Given the description of an element on the screen output the (x, y) to click on. 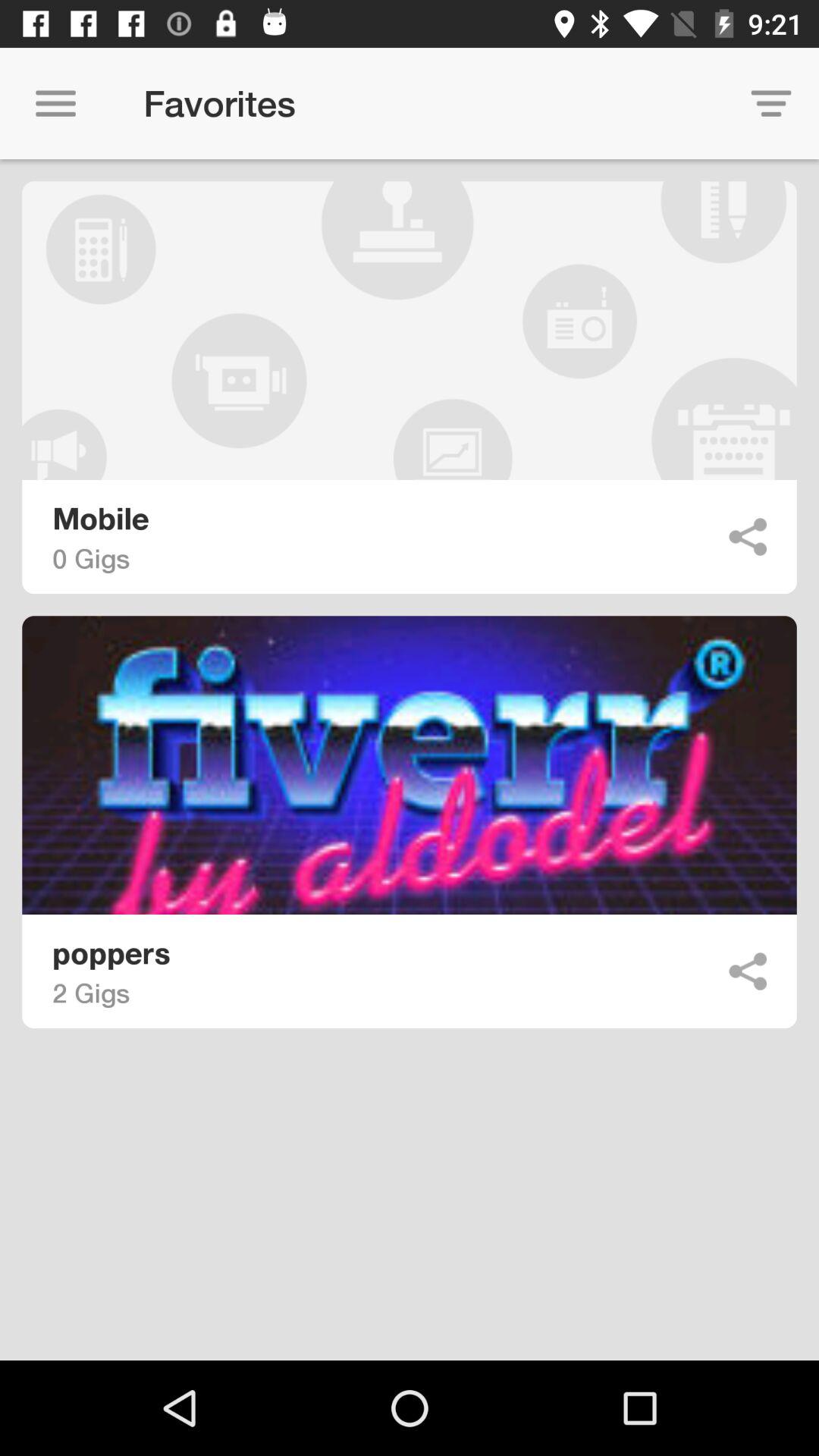
share mobile (747, 536)
